Given the description of an element on the screen output the (x, y) to click on. 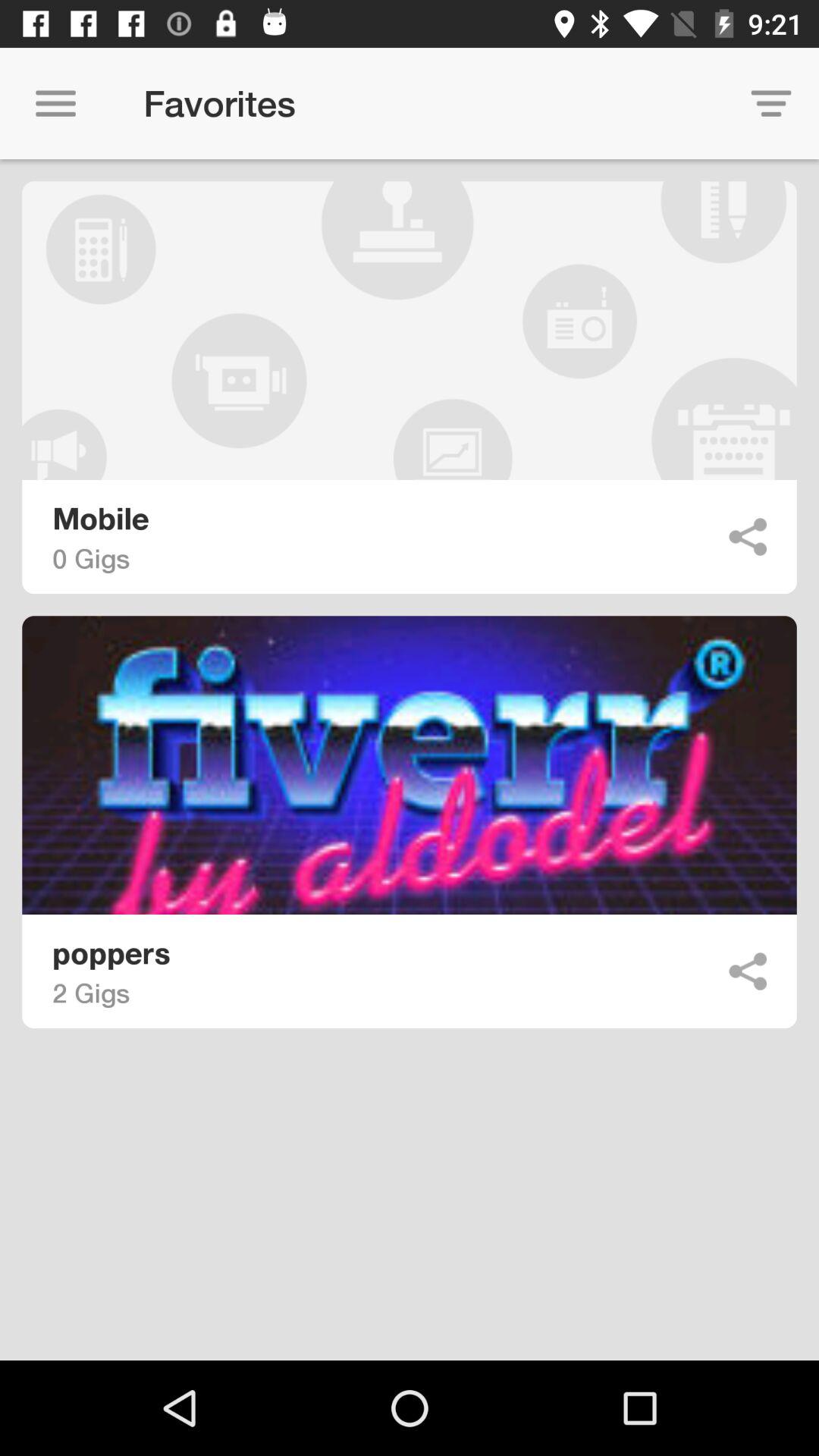
share mobile (747, 536)
